Given the description of an element on the screen output the (x, y) to click on. 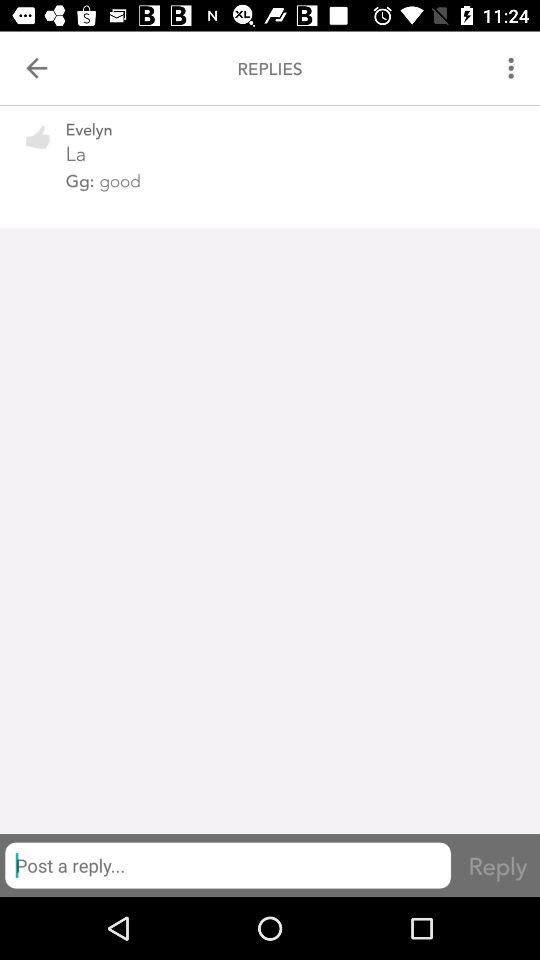
thumbs up (37, 149)
